Given the description of an element on the screen output the (x, y) to click on. 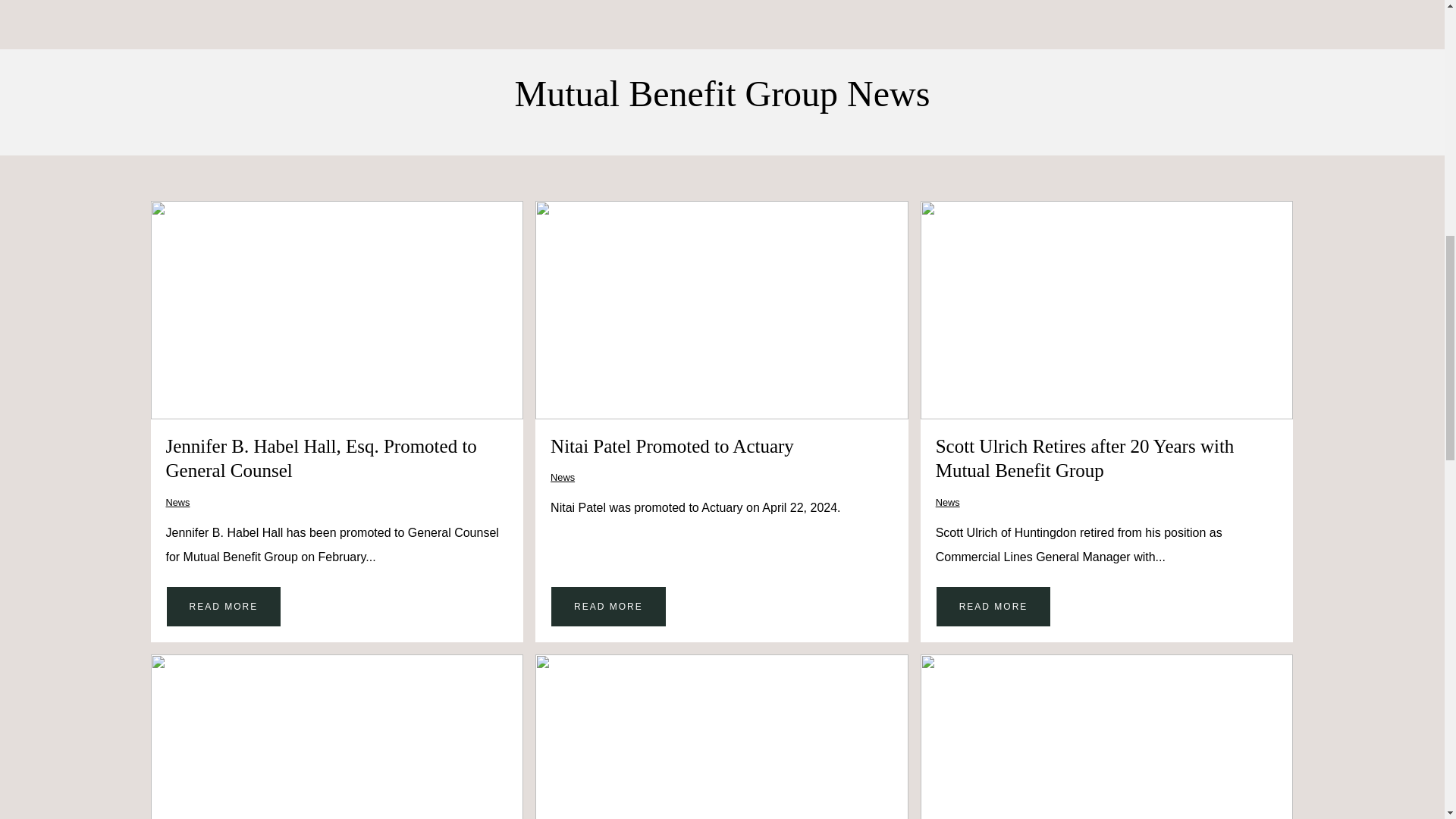
Jennifer B. Habel Hall, Esq. Promoted to General Counsel (320, 457)
READ MORE (223, 606)
News (177, 501)
